Given the description of an element on the screen output the (x, y) to click on. 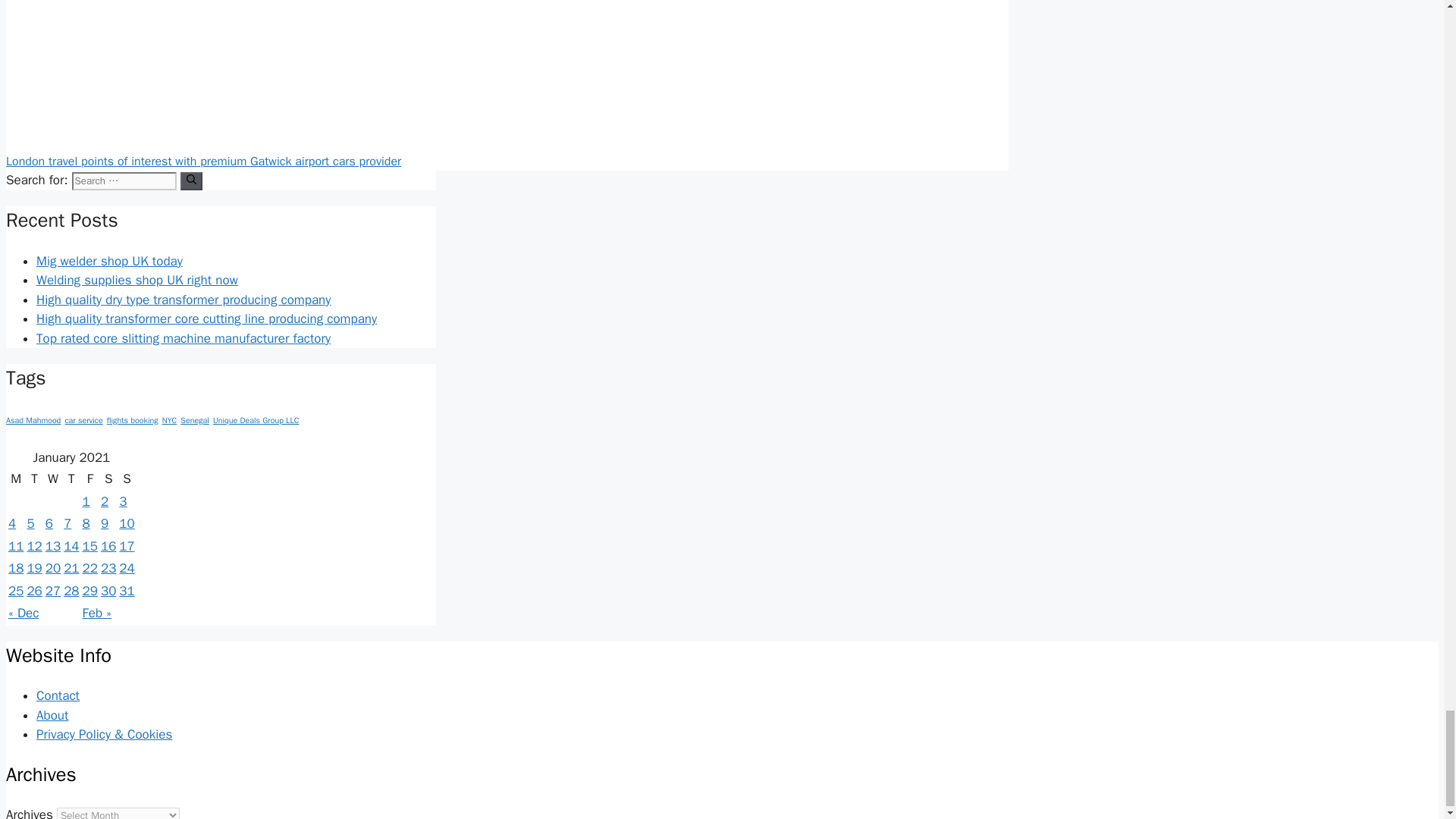
Search for: (123, 180)
Welding supplies shop UK right now (137, 279)
Next (203, 160)
Mig welder shop UK today (109, 261)
High quality transformer core cutting line producing company (206, 318)
flights booking (132, 420)
Unique Deals Group LLC (255, 420)
car service (82, 420)
Asad Mahmood (33, 420)
NYC (169, 420)
Senegal (194, 420)
Top rated core slitting machine manufacturer factory (183, 338)
High quality dry type transformer producing company (183, 299)
